Given the description of an element on the screen output the (x, y) to click on. 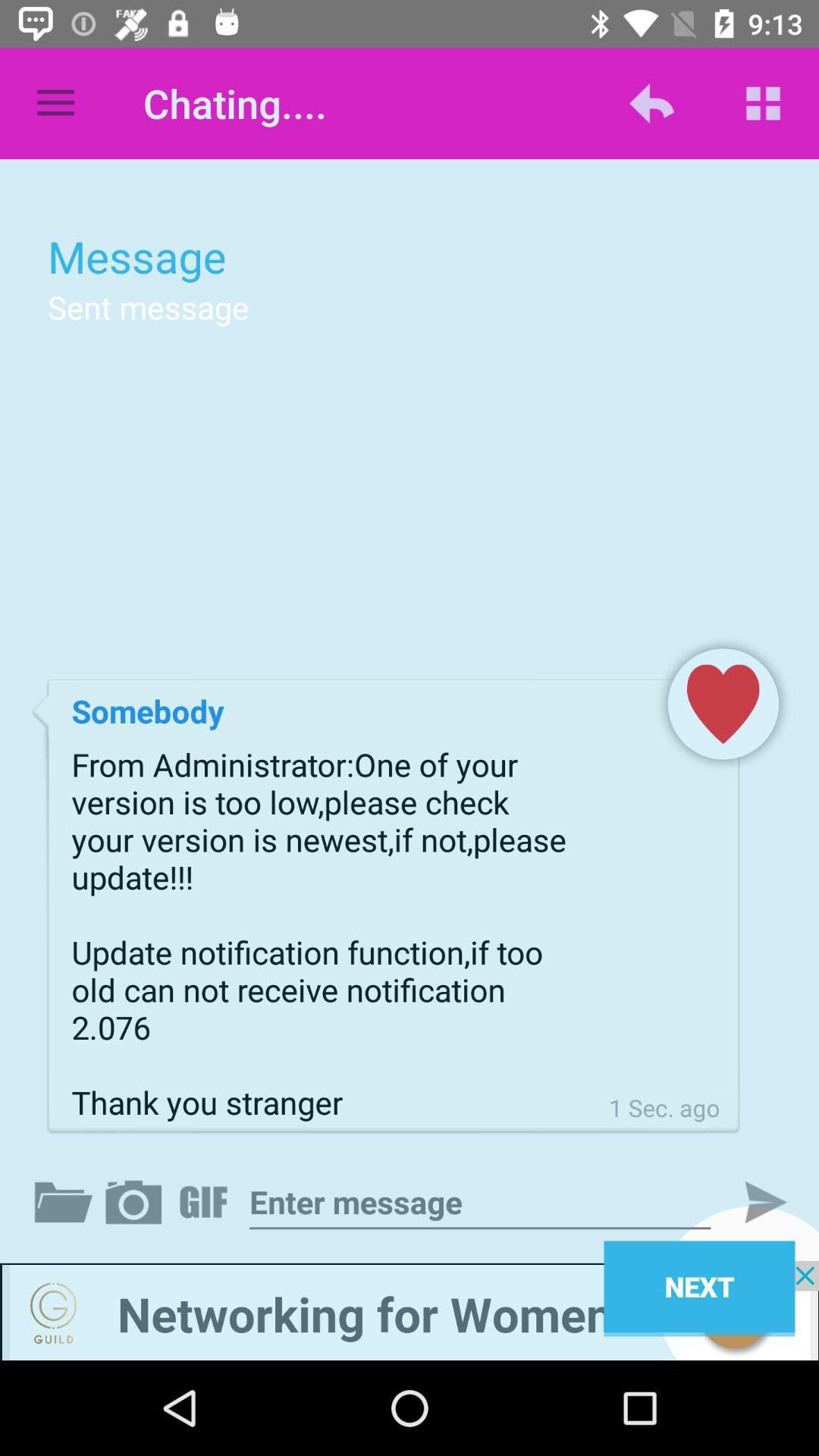
enter message (479, 1202)
